Given the description of an element on the screen output the (x, y) to click on. 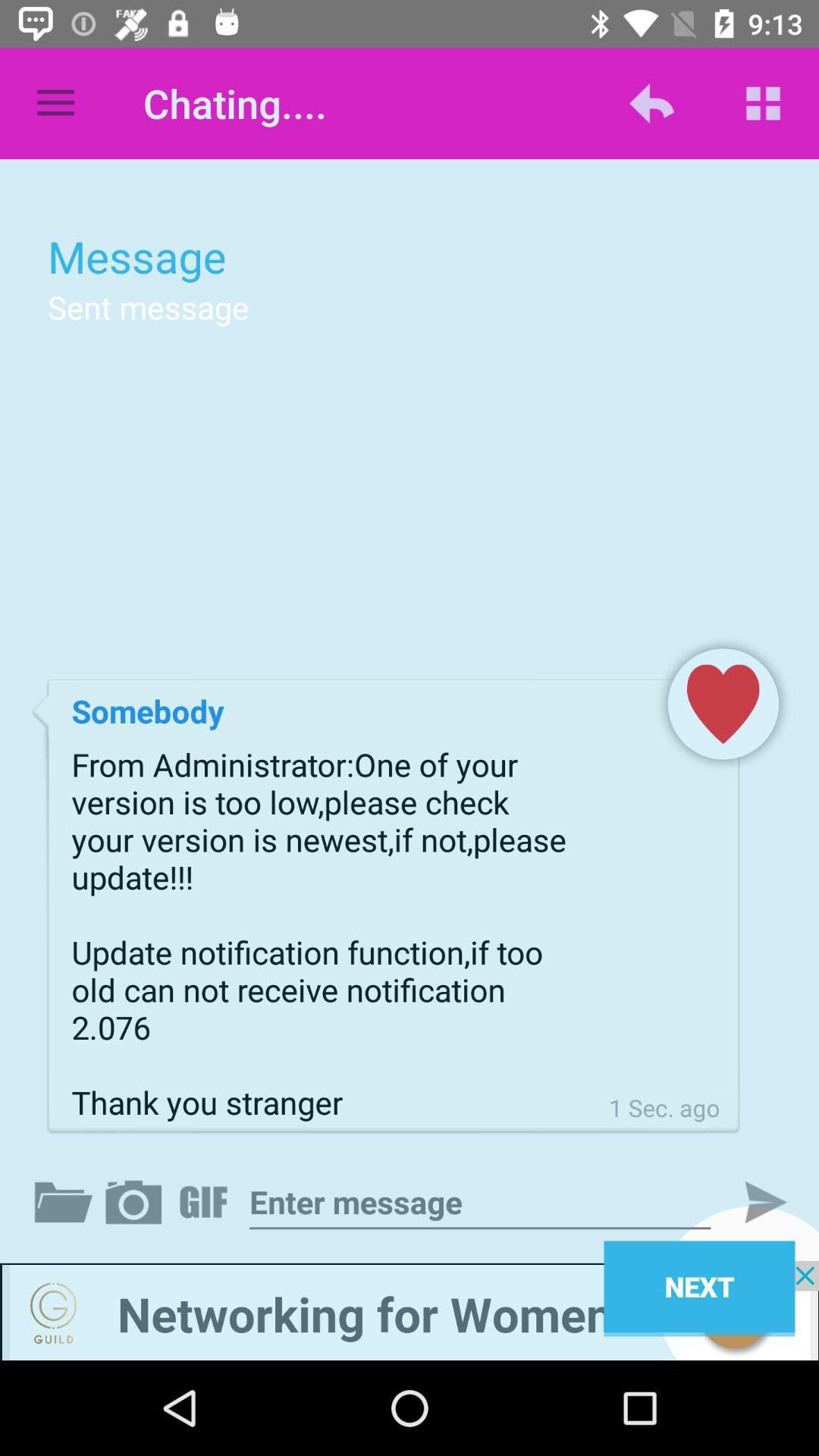
enter message (479, 1202)
